Given the description of an element on the screen output the (x, y) to click on. 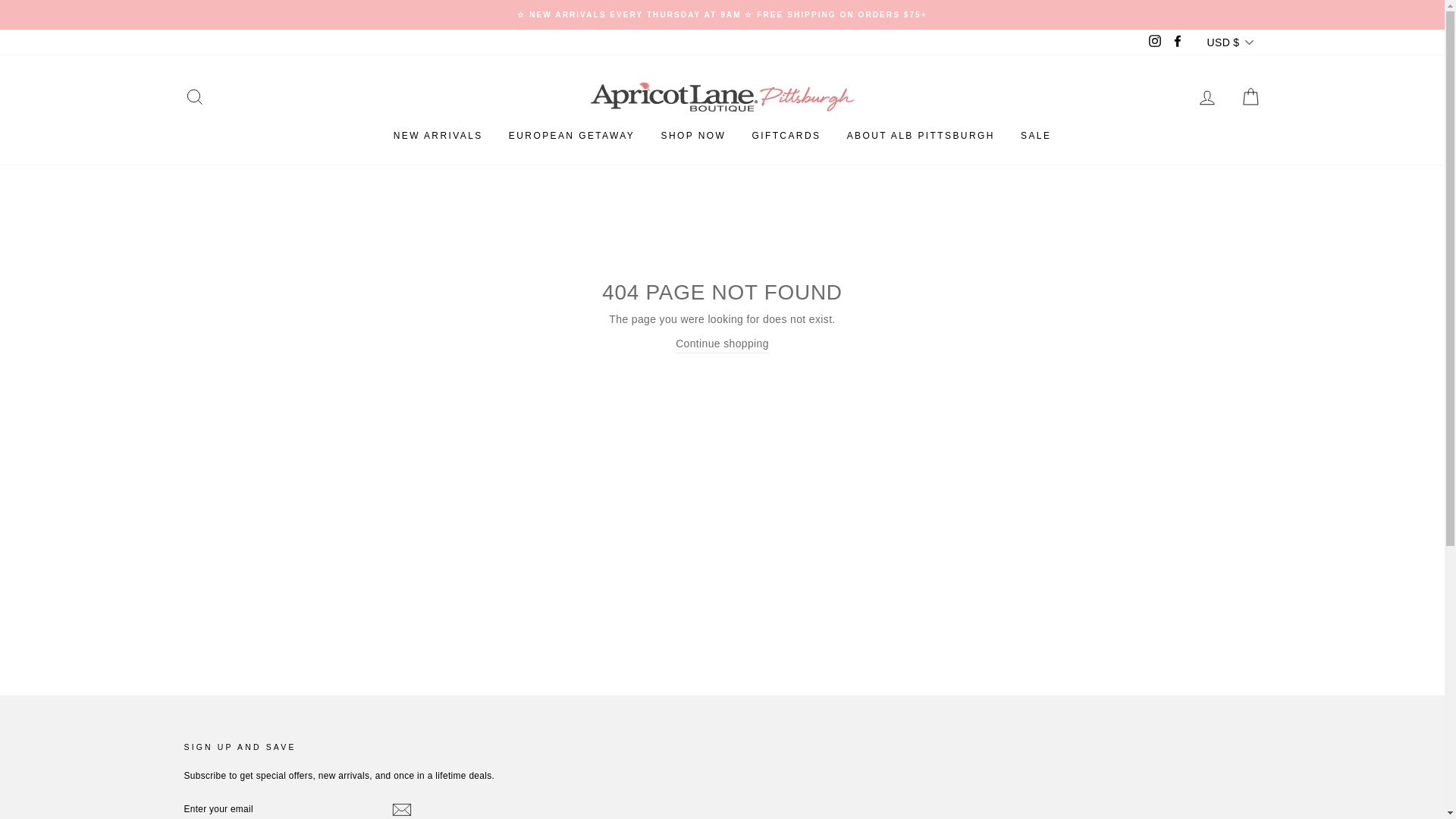
Facebook (1177, 42)
Instagram (1154, 42)
Apricot Lane Boutique - Pittsburgh on Facebook (1177, 42)
Apricot Lane Boutique - Pittsburgh on Instagram (1154, 42)
